Given the description of an element on the screen output the (x, y) to click on. 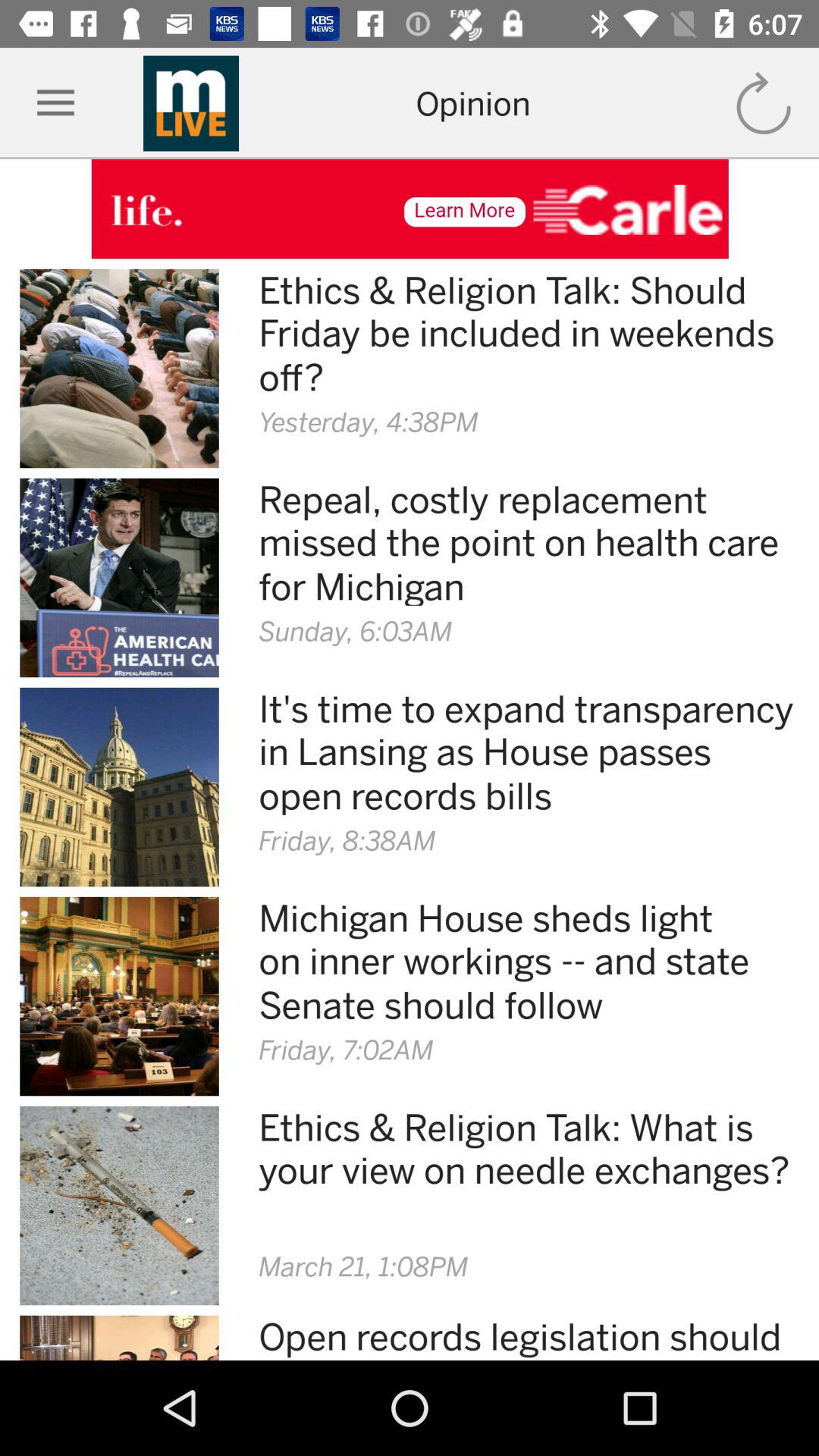
menu (55, 103)
